Given the description of an element on the screen output the (x, y) to click on. 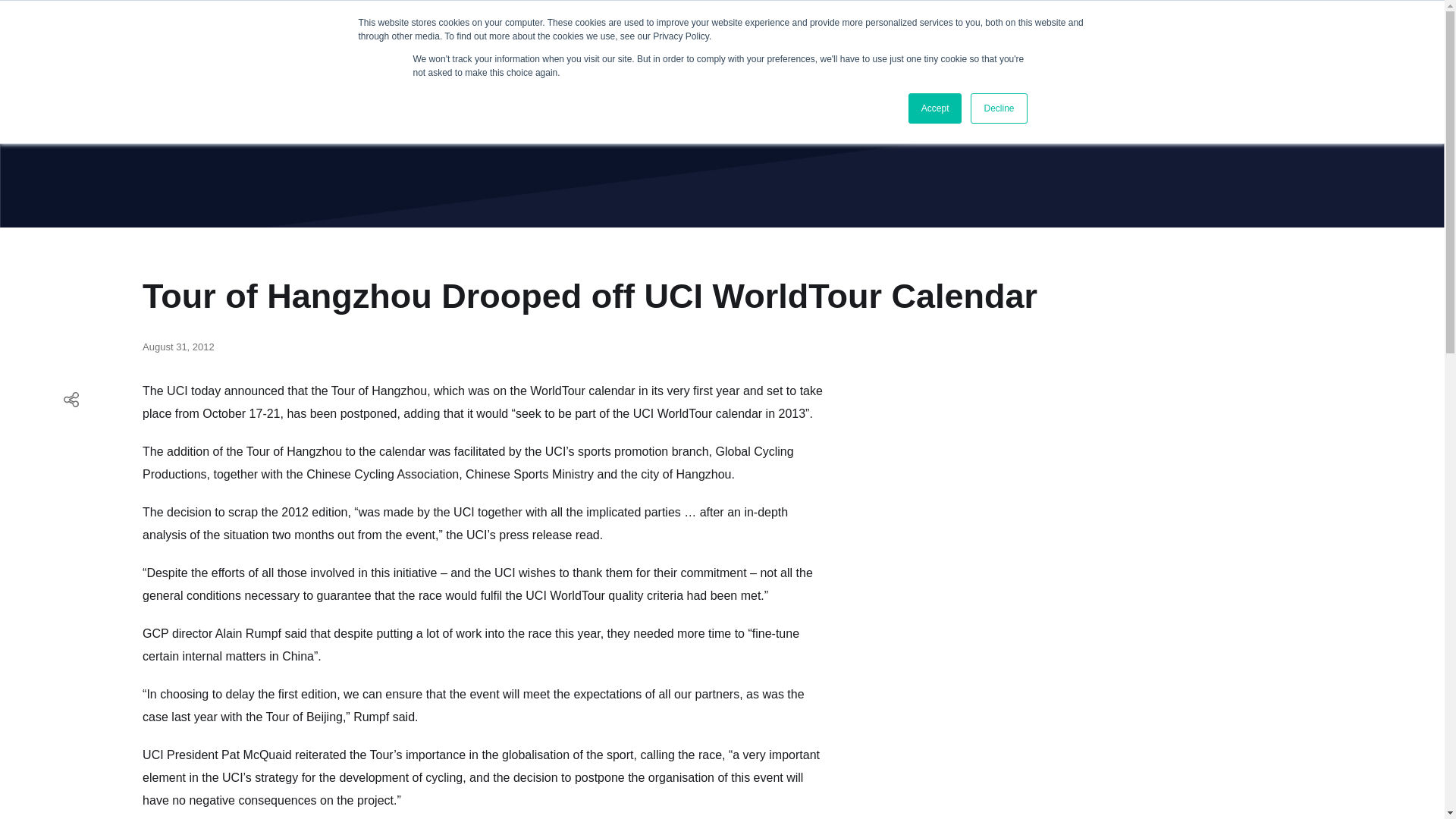
MARKETPLACE (310, 37)
ADVISORY (469, 37)
JOIN US (1356, 38)
Accept (935, 108)
EVENTS (394, 37)
INSIGHTS (221, 37)
MEET THE TEAM (564, 37)
Decline (998, 108)
LOGIN (1236, 38)
ISPORTLEARN (660, 37)
